Given the description of an element on the screen output the (x, y) to click on. 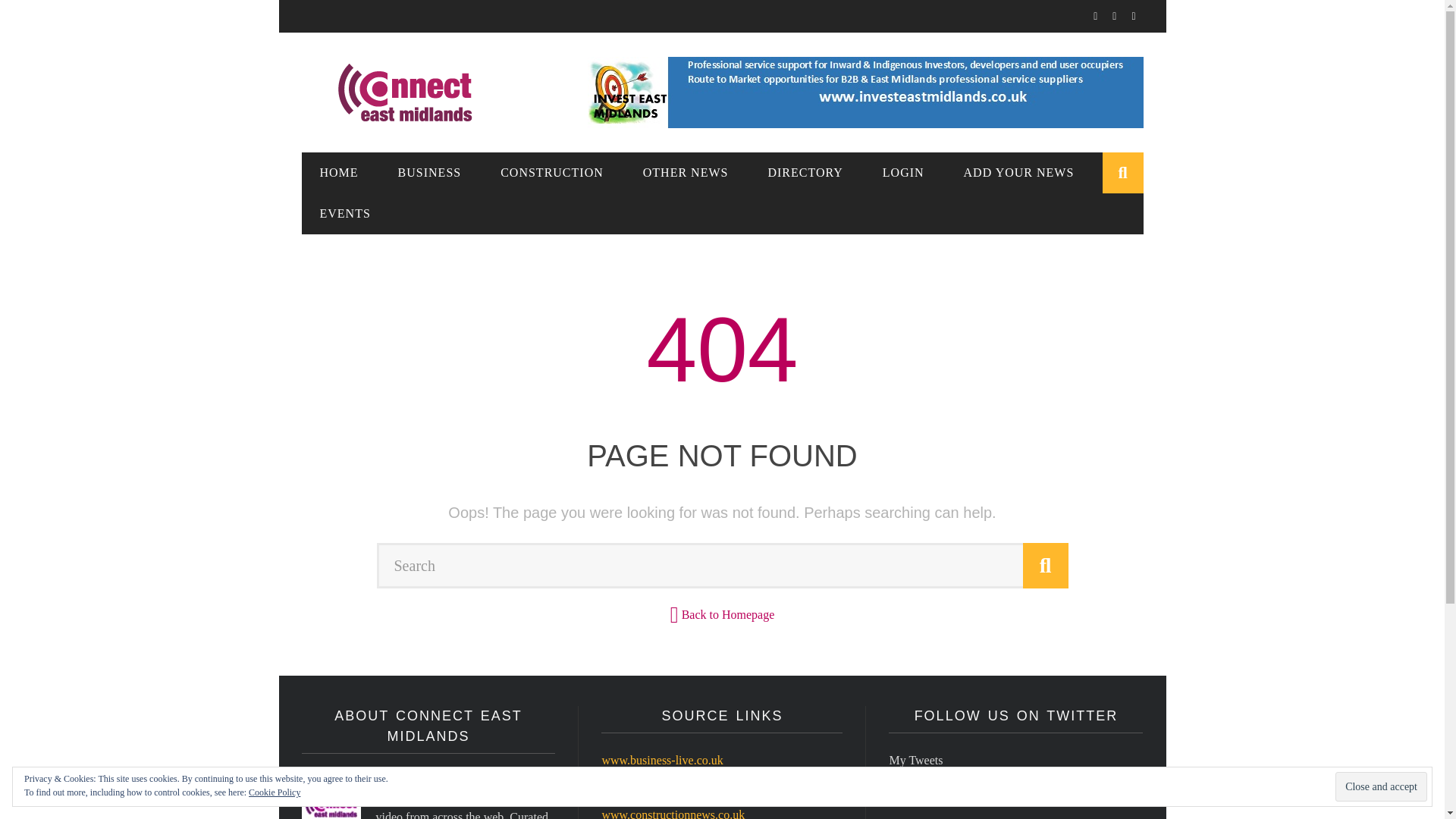
BUSINESS (430, 172)
Close and accept (1380, 786)
Search (721, 565)
LOGIN (903, 172)
HOME (339, 172)
Back to Homepage (727, 614)
Home (341, 214)
OTHER NEWS (685, 172)
EVENTS (344, 213)
Close and accept (1380, 786)
Cookie Policy (273, 792)
DIRECTORY (804, 172)
CONSTRUCTION (551, 172)
ADD YOUR NEWS (1018, 172)
